Given the description of an element on the screen output the (x, y) to click on. 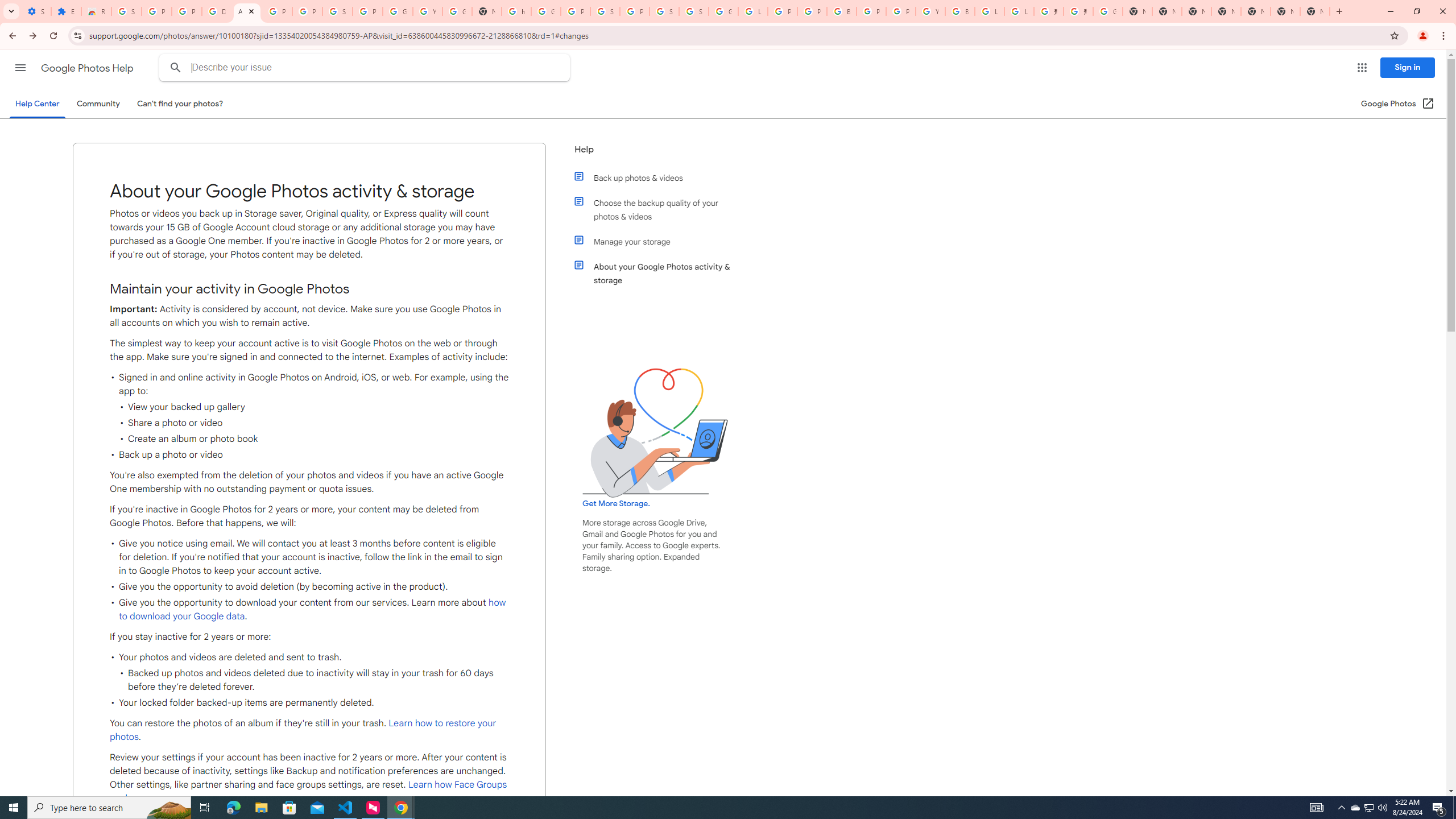
Search Help Center (176, 67)
Main menu (20, 67)
Learn how Face Groups works (307, 791)
Get More Storage. (615, 503)
Choose the backup quality of your photos & videos (661, 209)
New Tab (1314, 11)
